Given the description of an element on the screen output the (x, y) to click on. 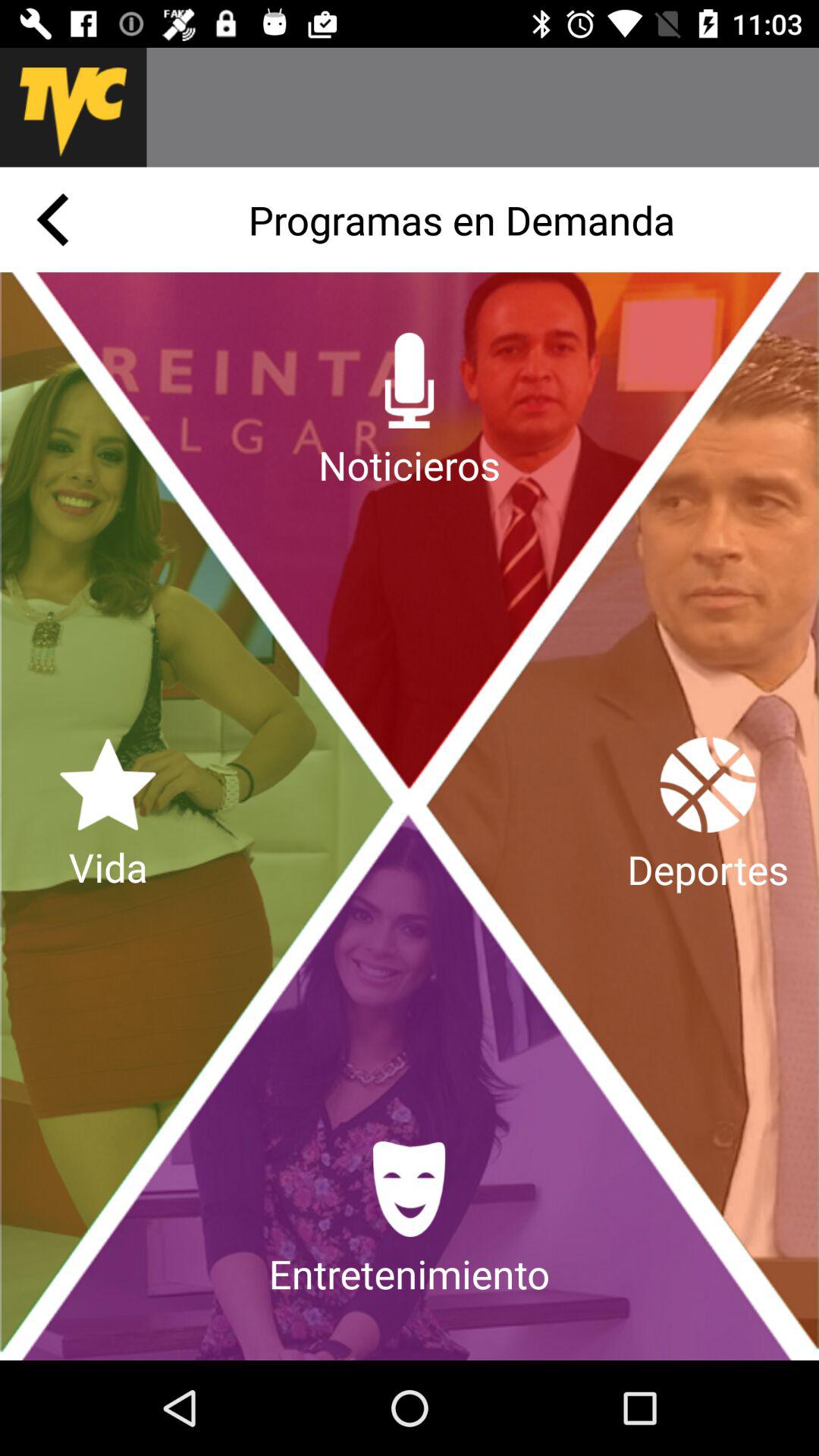
select noticieros (409, 411)
